Given the description of an element on the screen output the (x, y) to click on. 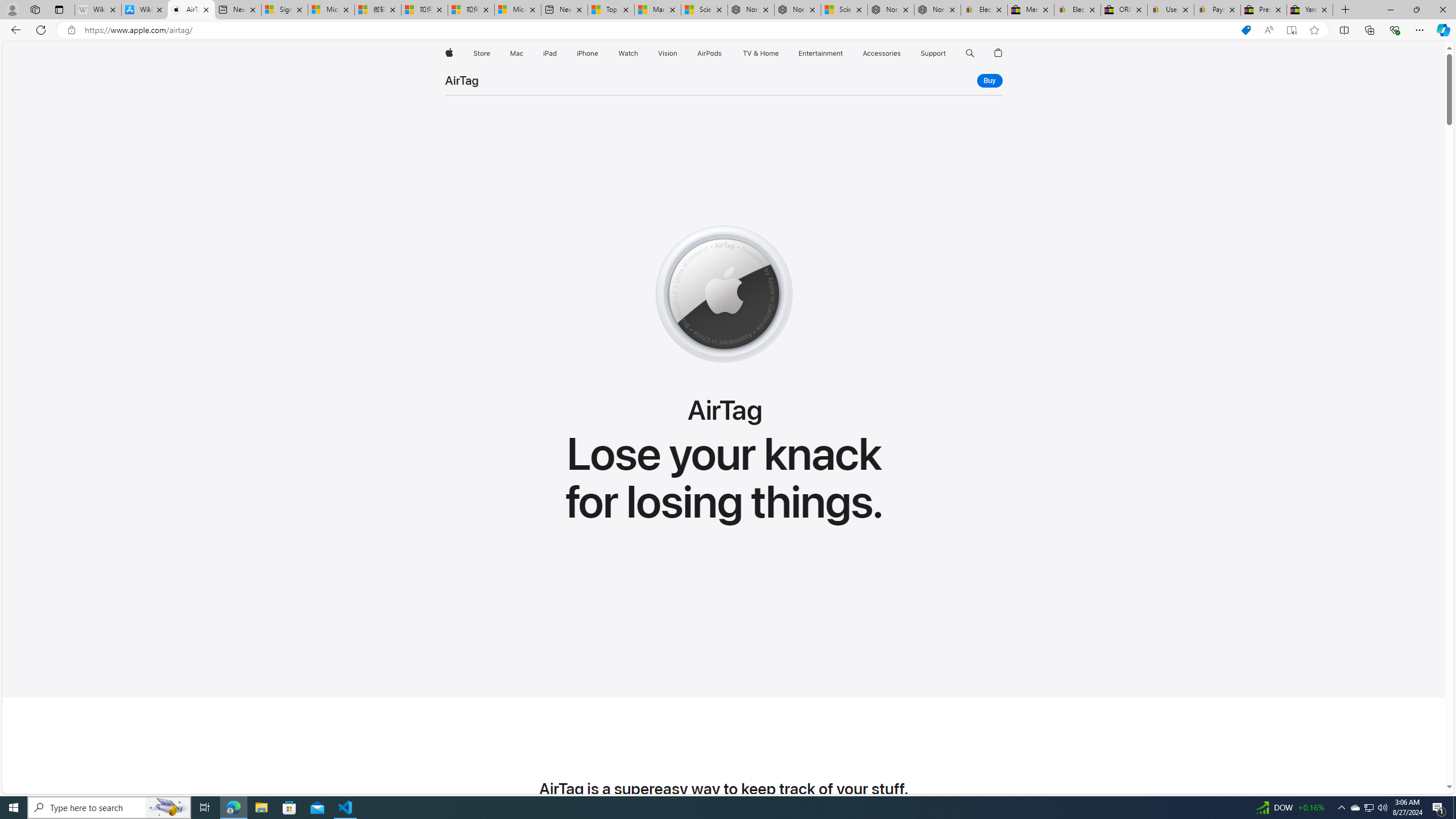
Store (481, 53)
Entertainment (820, 53)
Nordace - Summer Adventures 2024 (890, 9)
Marine life - MSN (656, 9)
Watch (627, 53)
Accessories (881, 53)
Accessories (881, 53)
TV and Home menu (780, 53)
Buy AirTag (989, 80)
Yard, Garden & Outdoor Living (1309, 9)
